Given the description of an element on the screen output the (x, y) to click on. 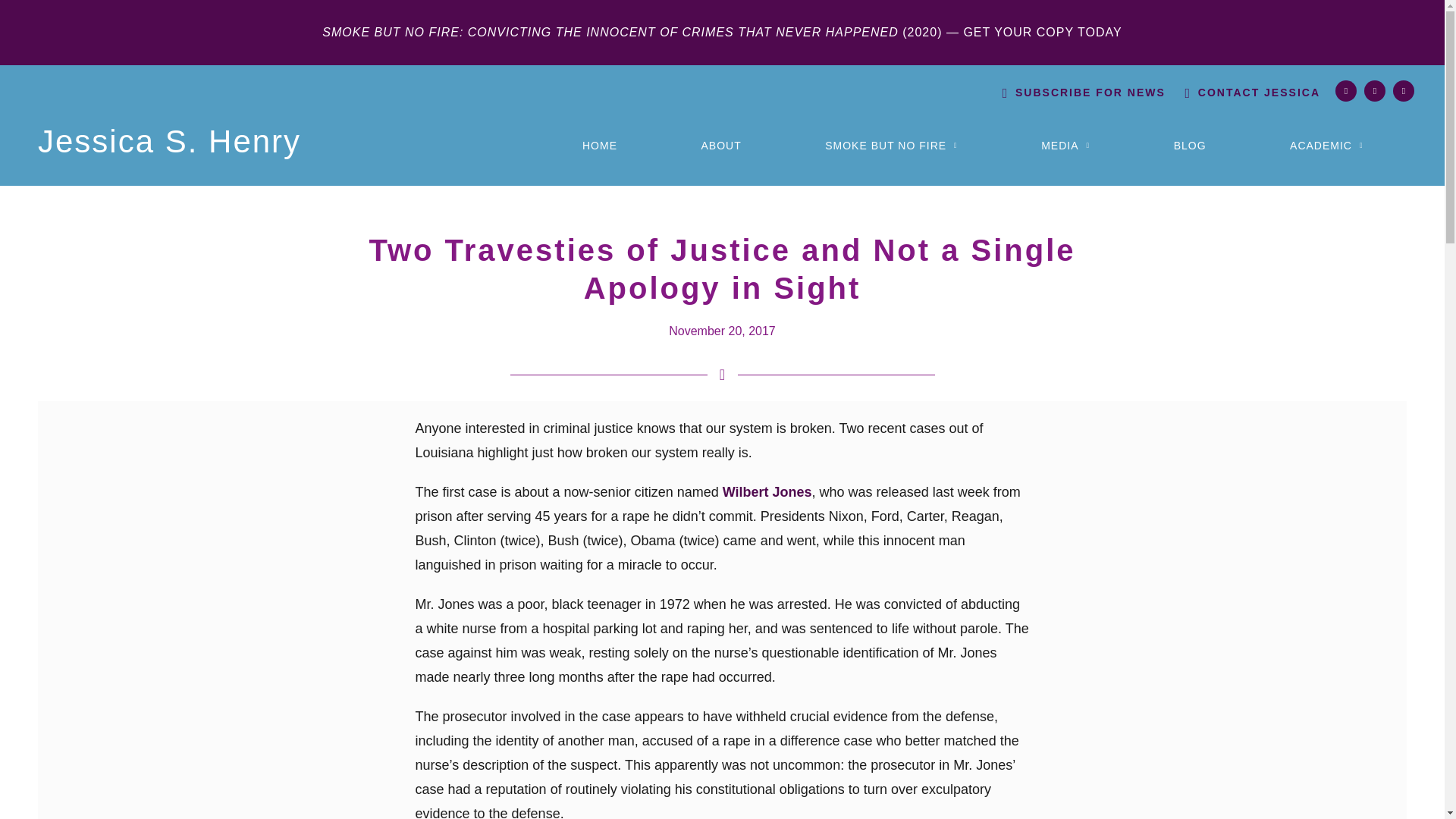
Jessica S. Henry (169, 140)
CONTACT JESSICA (1259, 92)
MEDIA (1064, 144)
SUBSCRIBE FOR NEWS (1090, 92)
ACADEMIC (1326, 144)
BLOG (1189, 144)
HOME (599, 144)
SMOKE BUT NO FIRE (890, 144)
ABOUT (721, 144)
